Given the description of an element on the screen output the (x, y) to click on. 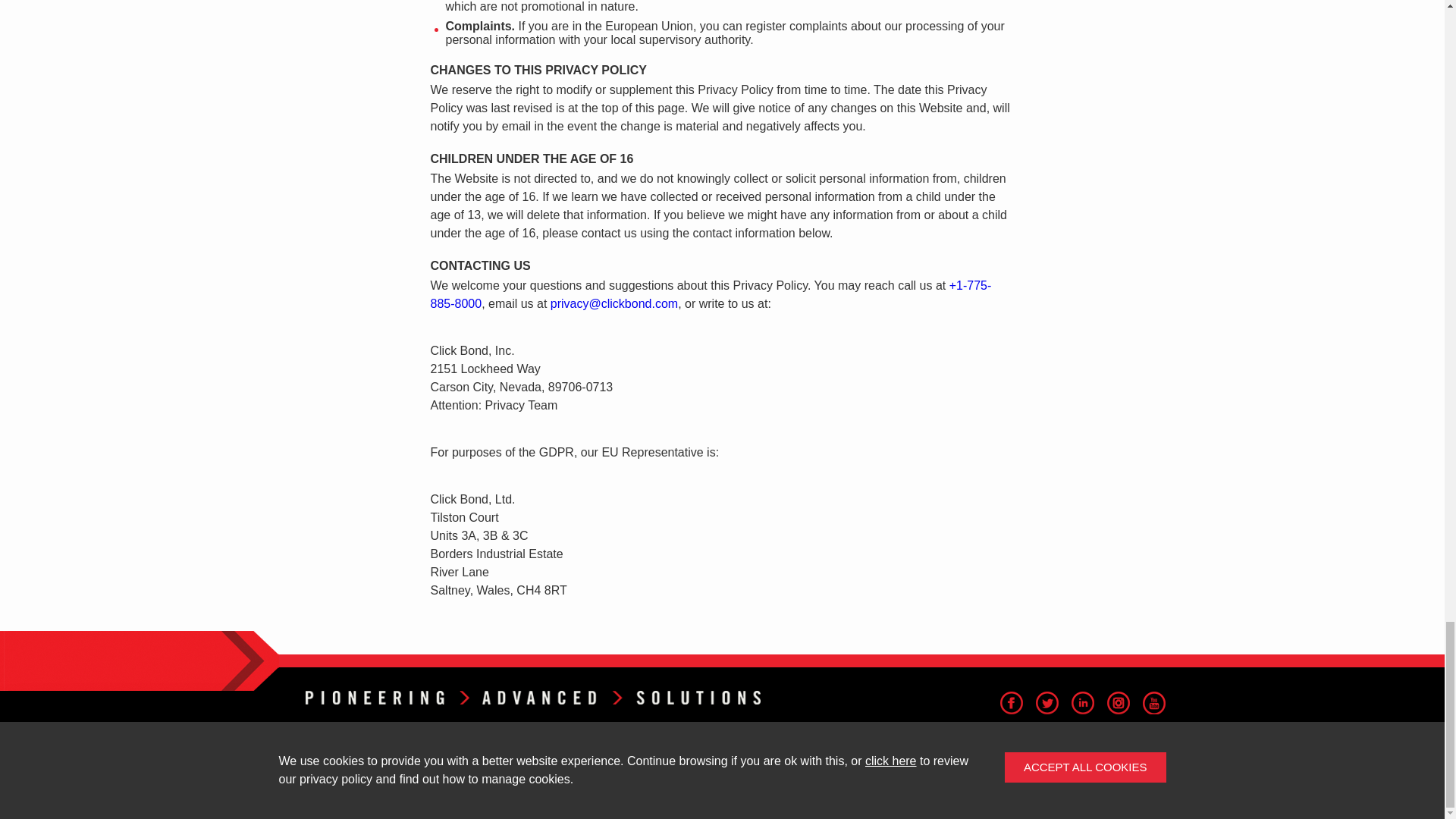
Website Design Company in Los Angeles (1105, 785)
Clickbond.com (532, 697)
